Given the description of an element on the screen output the (x, y) to click on. 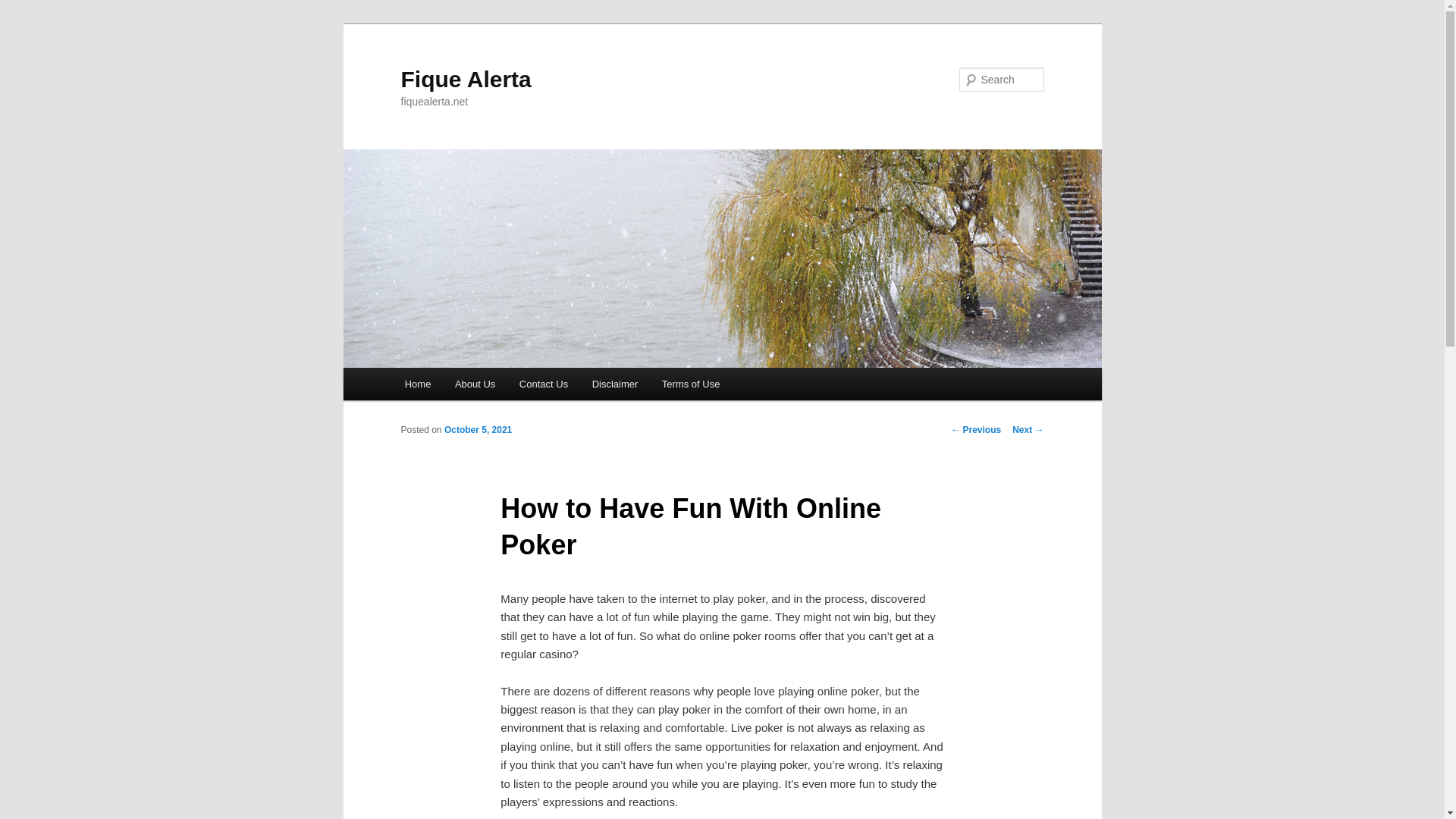
Search (24, 8)
3:30 pm (478, 429)
Disclaimer (614, 383)
Fique Alerta (465, 78)
About Us (474, 383)
Home (417, 383)
Terms of Use (690, 383)
October 5, 2021 (478, 429)
Contact Us (542, 383)
